Given the description of an element on the screen output the (x, y) to click on. 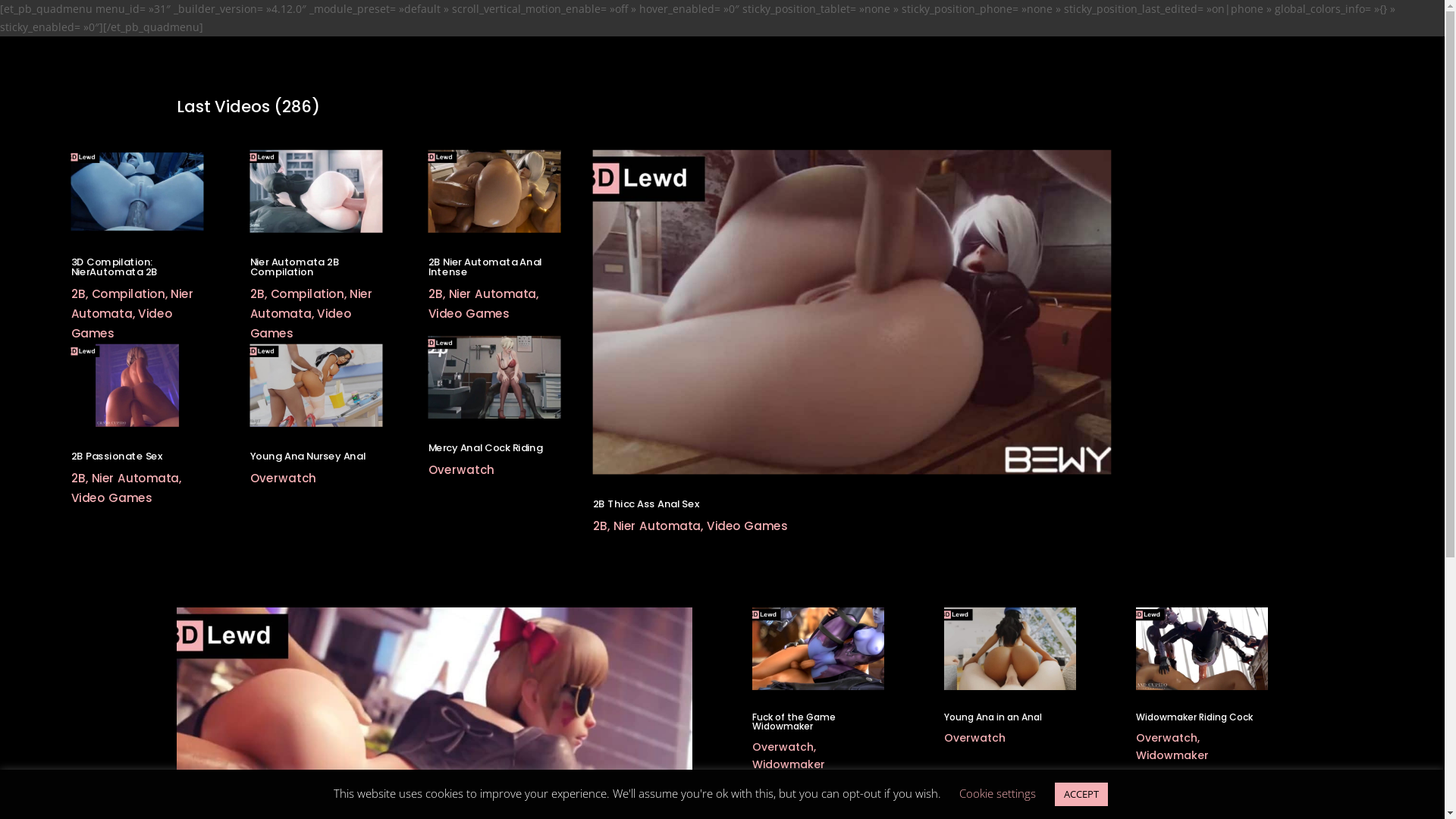
Nier Automata Element type: text (652, 525)
2B Thicc Ass Anal Sex Element type: text (641, 502)
Video Games Element type: text (108, 497)
2B Element type: text (256, 293)
2B Element type: text (77, 293)
Widowmaker Element type: text (1171, 754)
Video Games Element type: text (465, 312)
Widowmaker Riding Cock Element type: text (1193, 716)
Video Games Element type: text (296, 321)
2B Passionate Sex Element type: text (113, 454)
Overwatch Element type: text (458, 469)
Video Games Element type: text (743, 525)
Nier Automata Element type: text (131, 477)
Fuck of the Game Widowmaker Element type: text (793, 721)
Overwatch Element type: text (974, 737)
ACCEPT Element type: text (1080, 794)
Young Ana in an Anal Element type: text (992, 716)
Young Ana Nursey Anal Element type: text (302, 454)
Overwatch Element type: text (782, 746)
Compilation Element type: text (125, 293)
Compilation Element type: text (303, 293)
Cookie settings Element type: text (996, 792)
Nier Automata 2B Compilation Element type: text (290, 266)
Nier Automata Element type: text (128, 303)
2B Nier Automata Anal Intense Element type: text (480, 266)
Nier Automata Element type: text (306, 303)
3D Compilation: NierAutomata 2B Element type: text (111, 266)
Video Games Element type: text (118, 321)
2B Element type: text (77, 477)
2B Element type: text (435, 293)
Overwatch Element type: text (1166, 737)
Nier Automata Element type: text (489, 293)
Widowmaker Element type: text (788, 763)
Overwatch Element type: text (279, 477)
Mercy Anal Cock Riding Element type: text (481, 447)
2B Element type: text (598, 525)
